Given the description of an element on the screen output the (x, y) to click on. 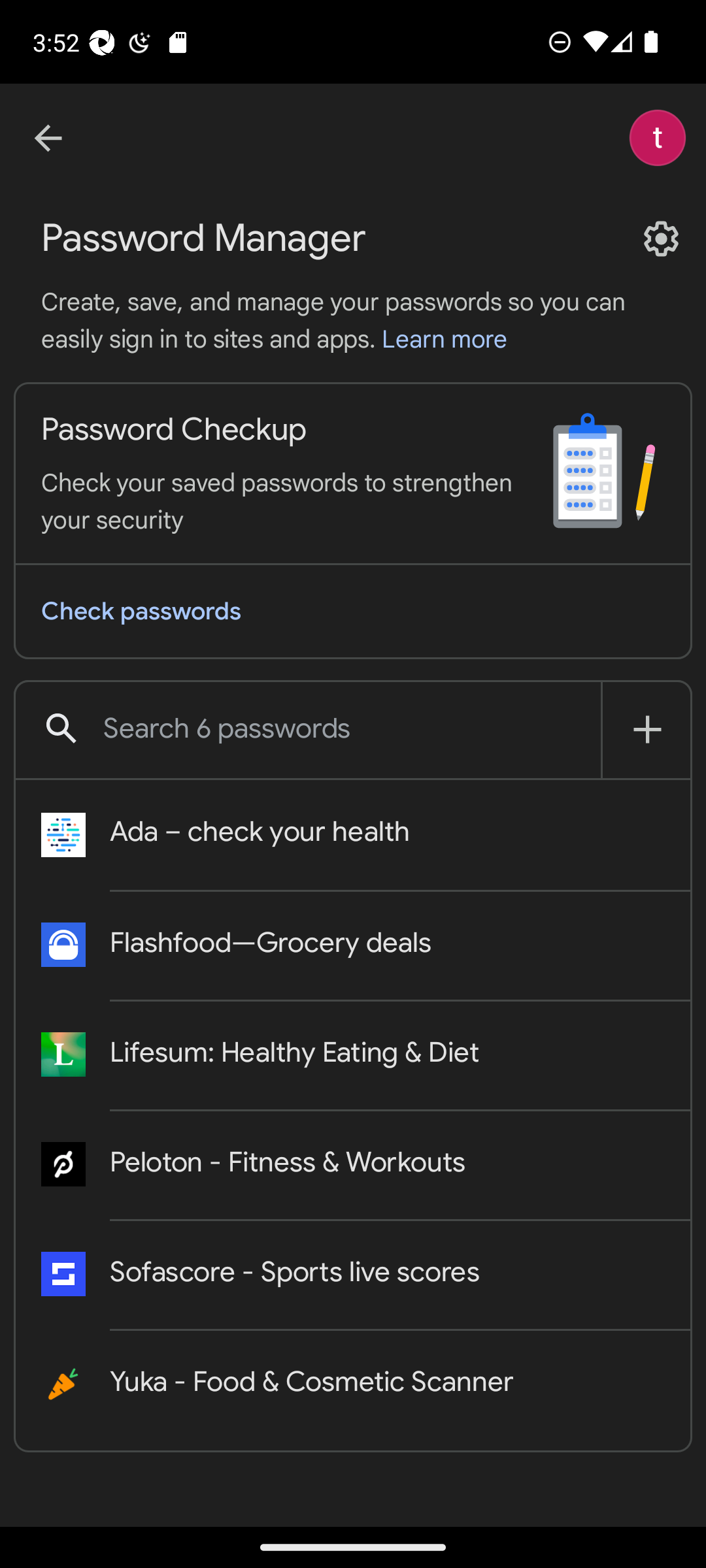
Navigate up (48, 138)
Settings (661, 238)
Check passwords (352, 610)
Search Search 6 passwords Add password (352, 730)
Add password (647, 728)
Ada – check your health (353, 835)
Flashfood—Grocery deals (353, 945)
Lifesum: Healthy Eating & Diet (353, 1055)
Peloton - Fitness & Workouts (353, 1164)
Sofascore - Sports live scores (353, 1274)
Yuka - Food & Cosmetic Scanner (353, 1384)
